Given the description of an element on the screen output the (x, y) to click on. 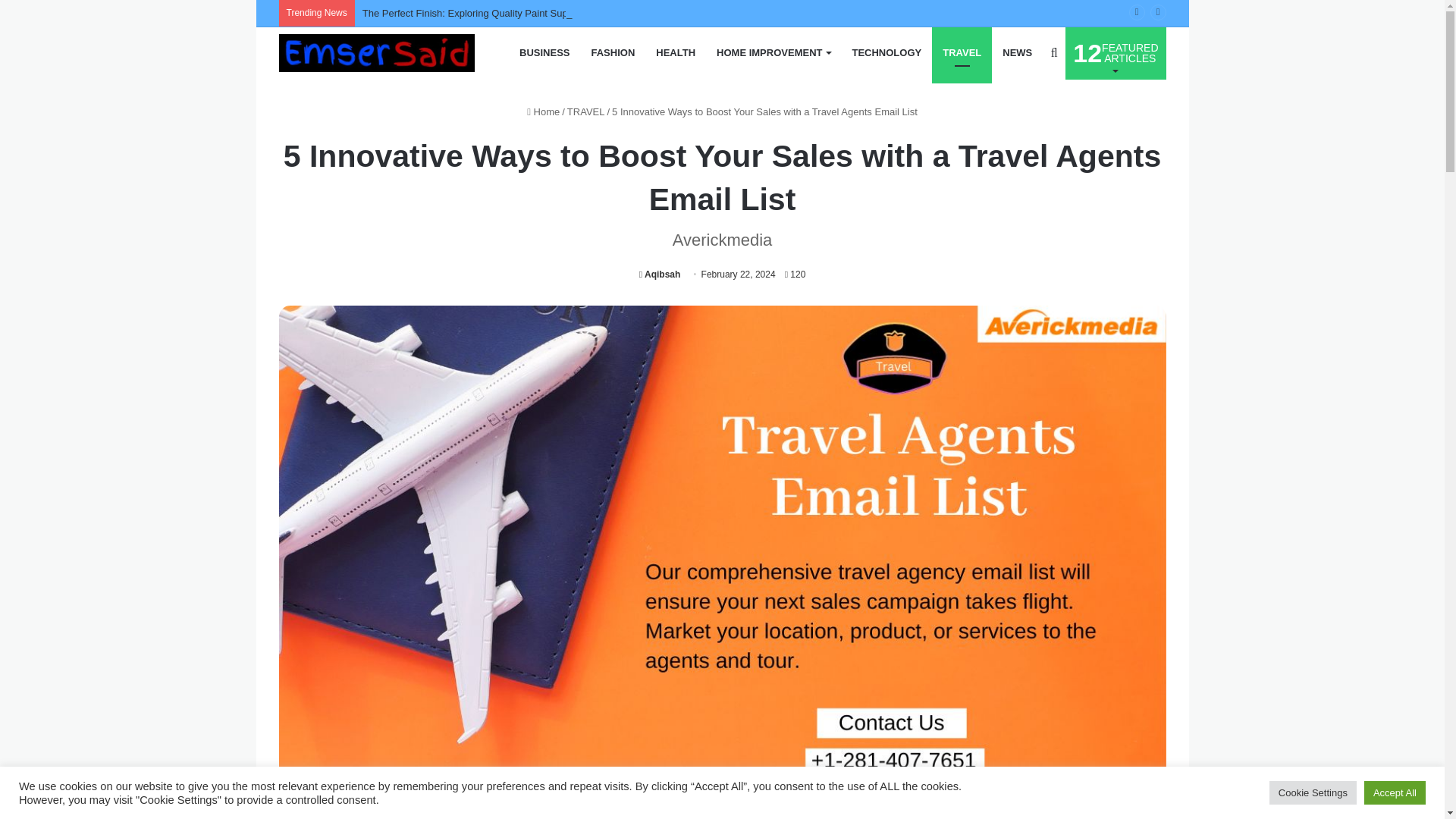
TRAVEL (961, 52)
Emser said (376, 53)
BUSINESS (543, 52)
TECHNOLOGY (1115, 52)
HOME IMPROVEMENT (886, 52)
Aqibsah (773, 52)
NEWS (660, 274)
FASHION (1016, 52)
HEALTH (613, 52)
